Given the description of an element on the screen output the (x, y) to click on. 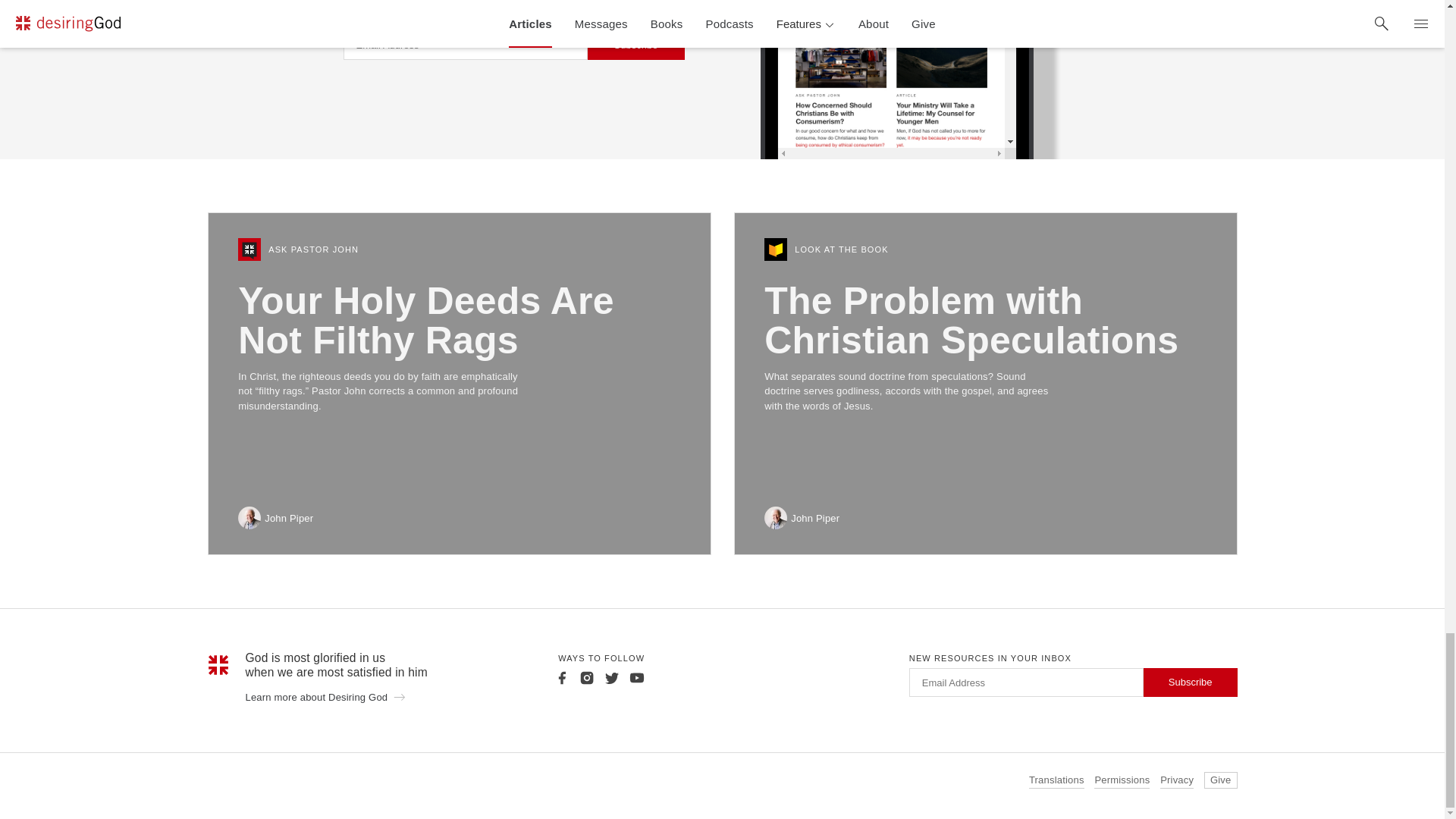
Twitter (612, 677)
Arrow (399, 696)
Mark - Large (218, 664)
